Given the description of an element on the screen output the (x, y) to click on. 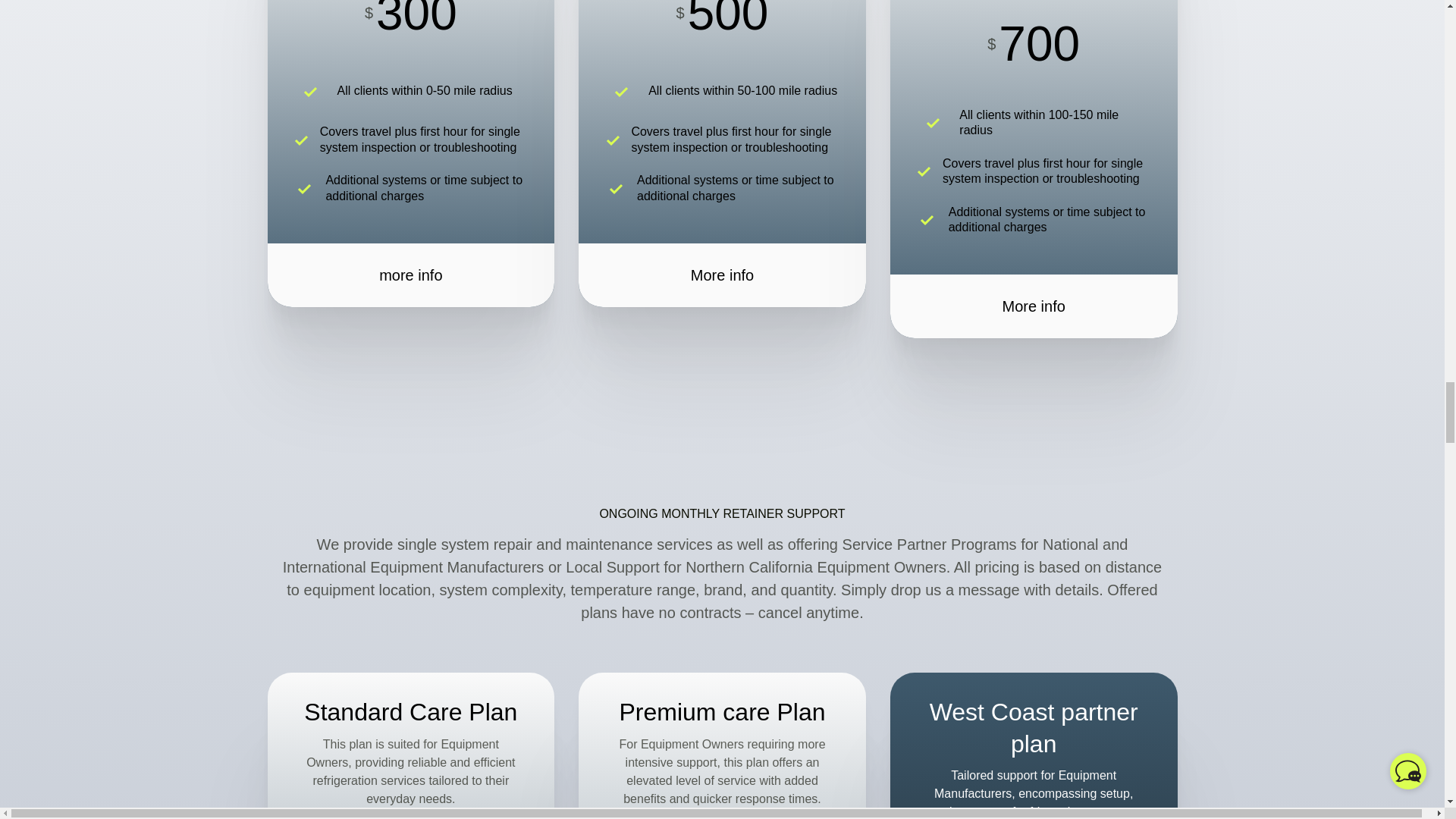
more info (410, 275)
More info (1033, 306)
More info (722, 275)
